Given the description of an element on the screen output the (x, y) to click on. 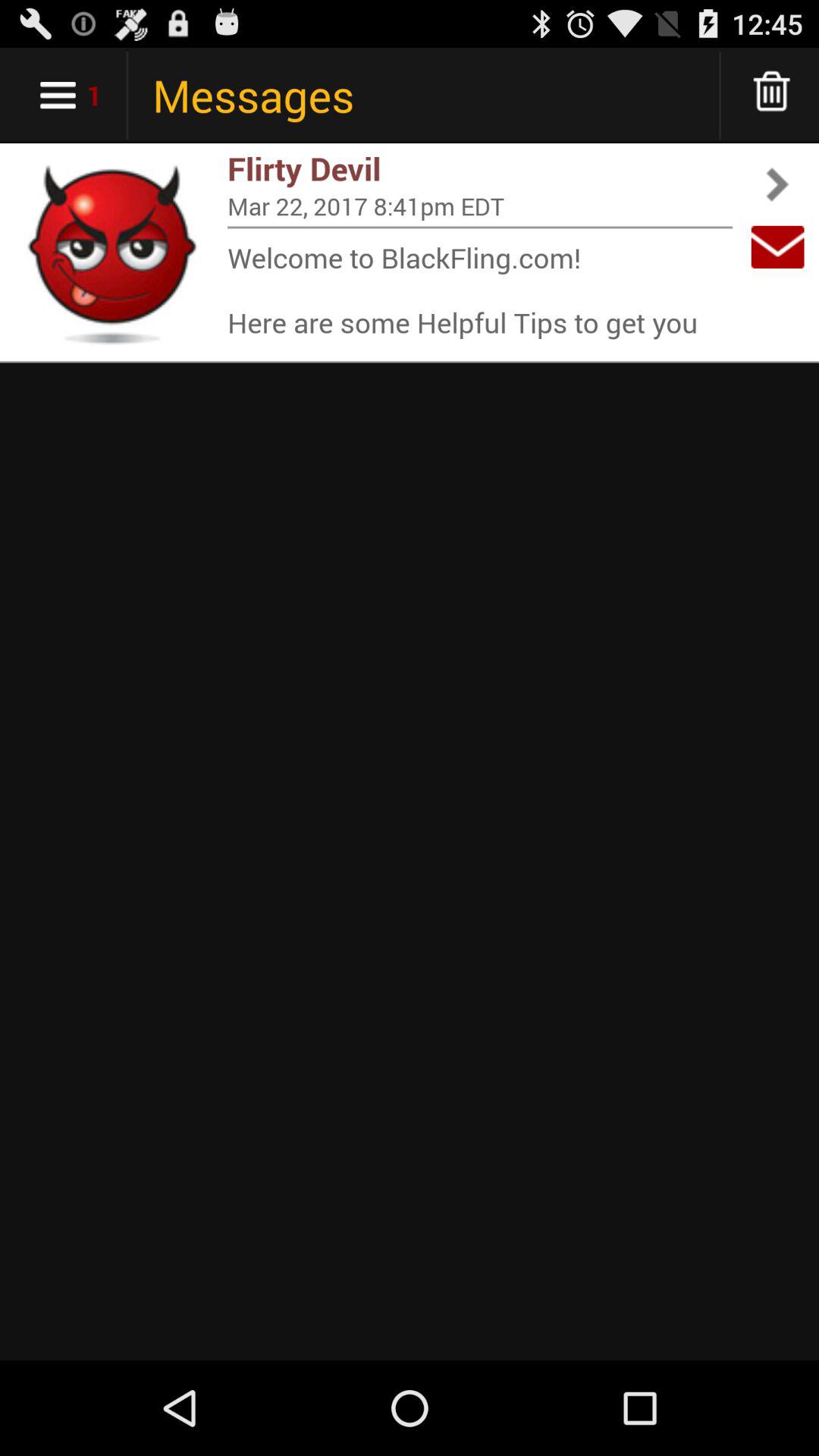
choose app next to mar 22 2017 app (777, 246)
